Given the description of an element on the screen output the (x, y) to click on. 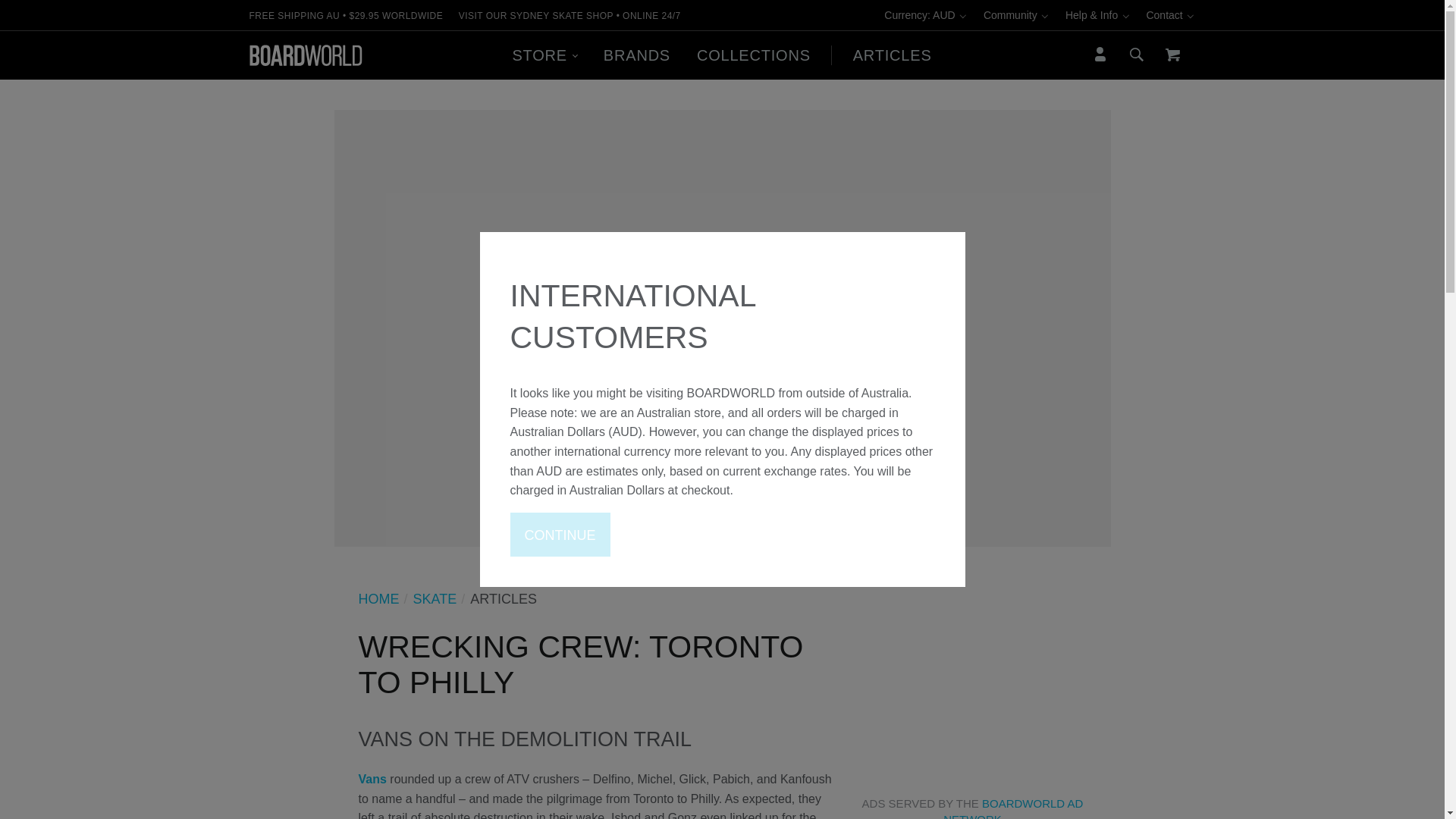
Your Cart (1172, 55)
ARTICLES (892, 55)
COLLECTIONS (753, 55)
Currency: AUD (925, 14)
BRANDS (635, 55)
Community (1016, 14)
Contact (1170, 14)
STORE (544, 55)
